Given the description of an element on the screen output the (x, y) to click on. 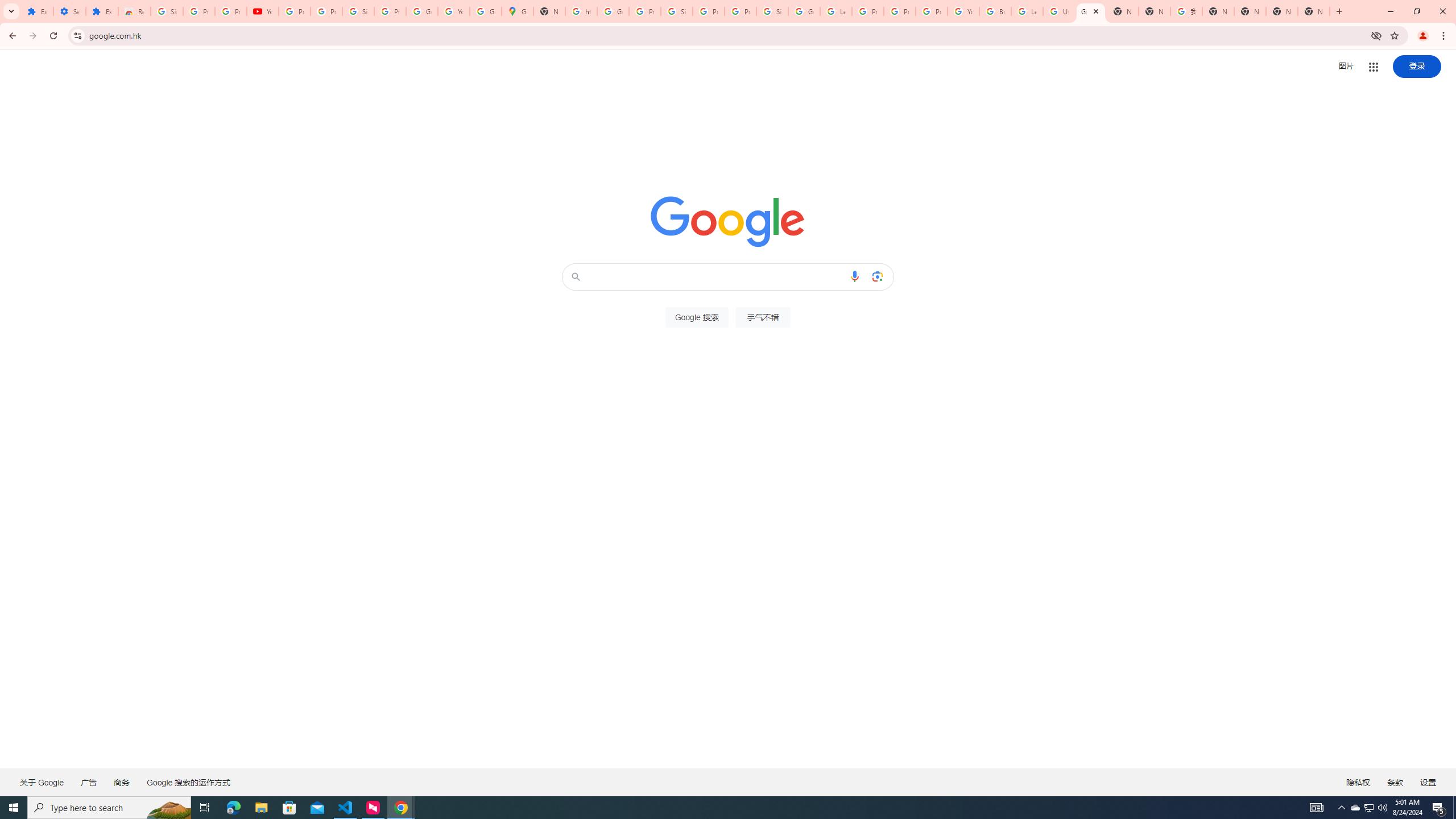
Reviews: Helix Fruit Jump Arcade Game (134, 11)
Google (1091, 11)
Privacy Help Center - Policies Help (868, 11)
